Given the description of an element on the screen output the (x, y) to click on. 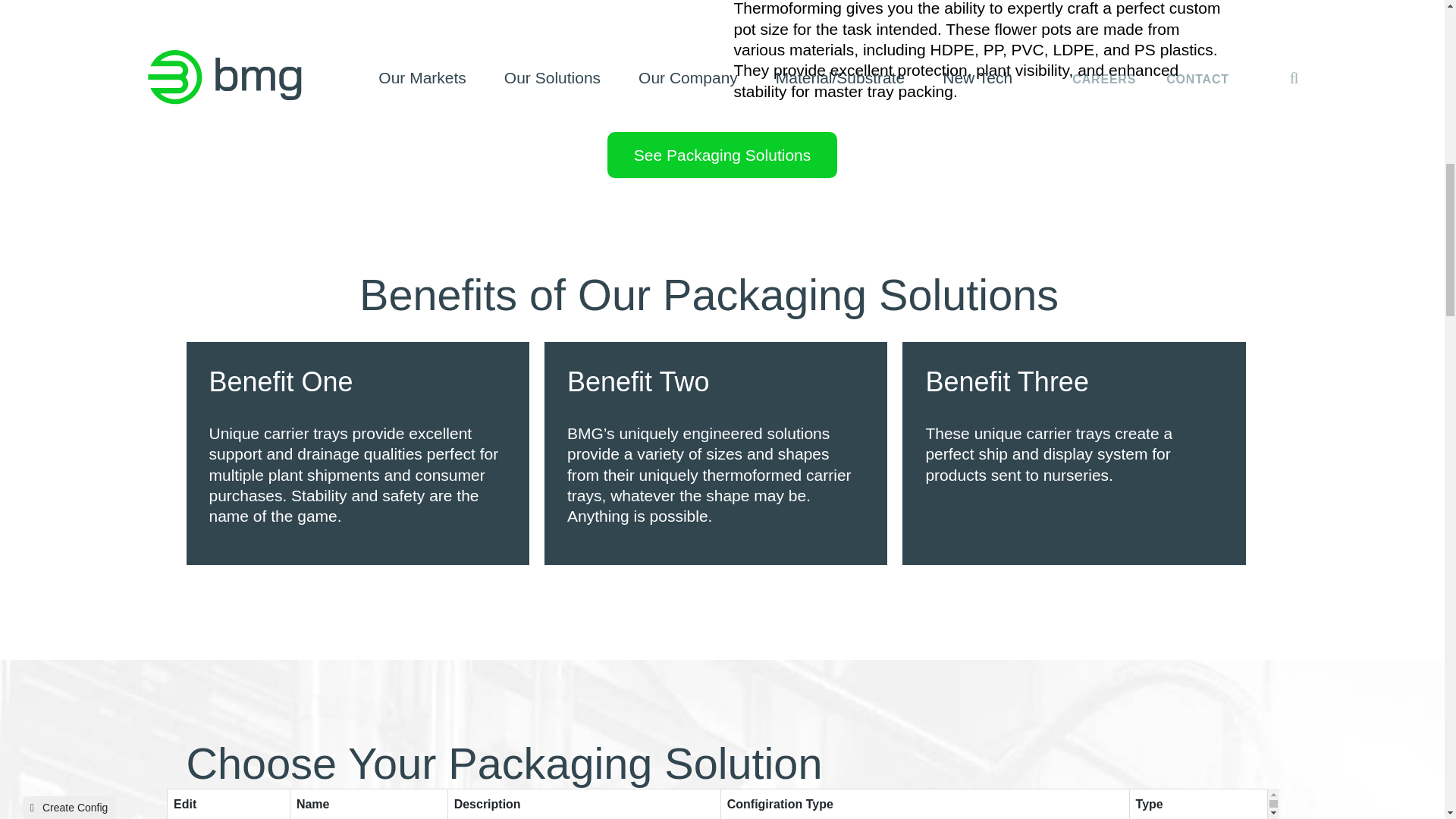
GLOBAL CONFIGURATION (863, 87)
PAGE CONFIGURATION (863, 38)
on (178, 15)
CLEAR (1079, 65)
SUBMIT (1209, 65)
